Given the description of an element on the screen output the (x, y) to click on. 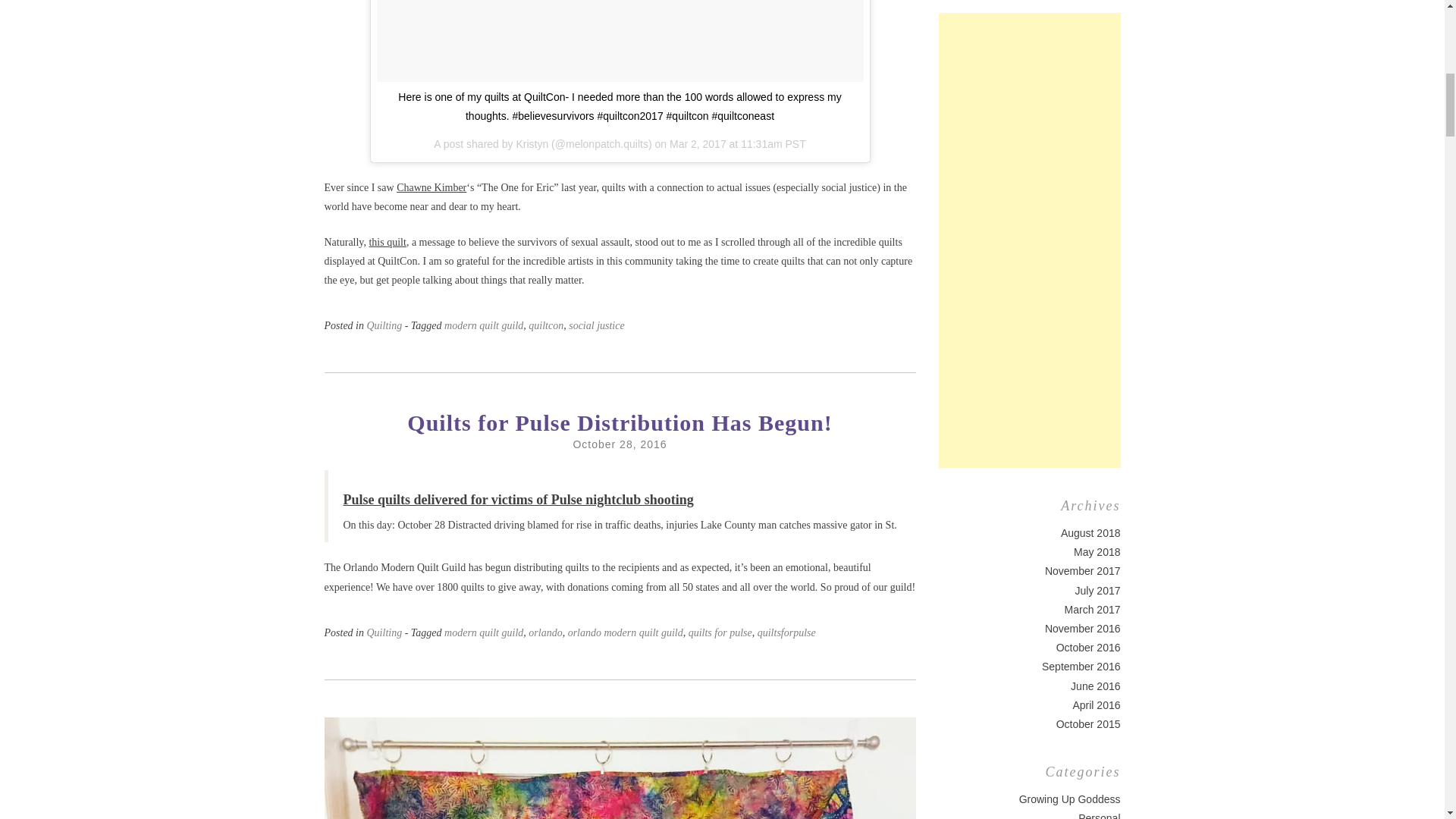
orlando modern quilt guild (624, 632)
modern quilt guild (483, 632)
orlando (545, 632)
this quilt (387, 242)
October 28, 2016 (619, 444)
quilts for pulse (720, 632)
Quilting (384, 632)
quiltcon (545, 325)
modern quilt guild (483, 325)
Quilts for Pulse Distribution Has Begun! (619, 422)
social justice (596, 325)
quiltsforpulse (786, 632)
Quilting (384, 325)
Chawne Kimber (430, 187)
